Given the description of an element on the screen output the (x, y) to click on. 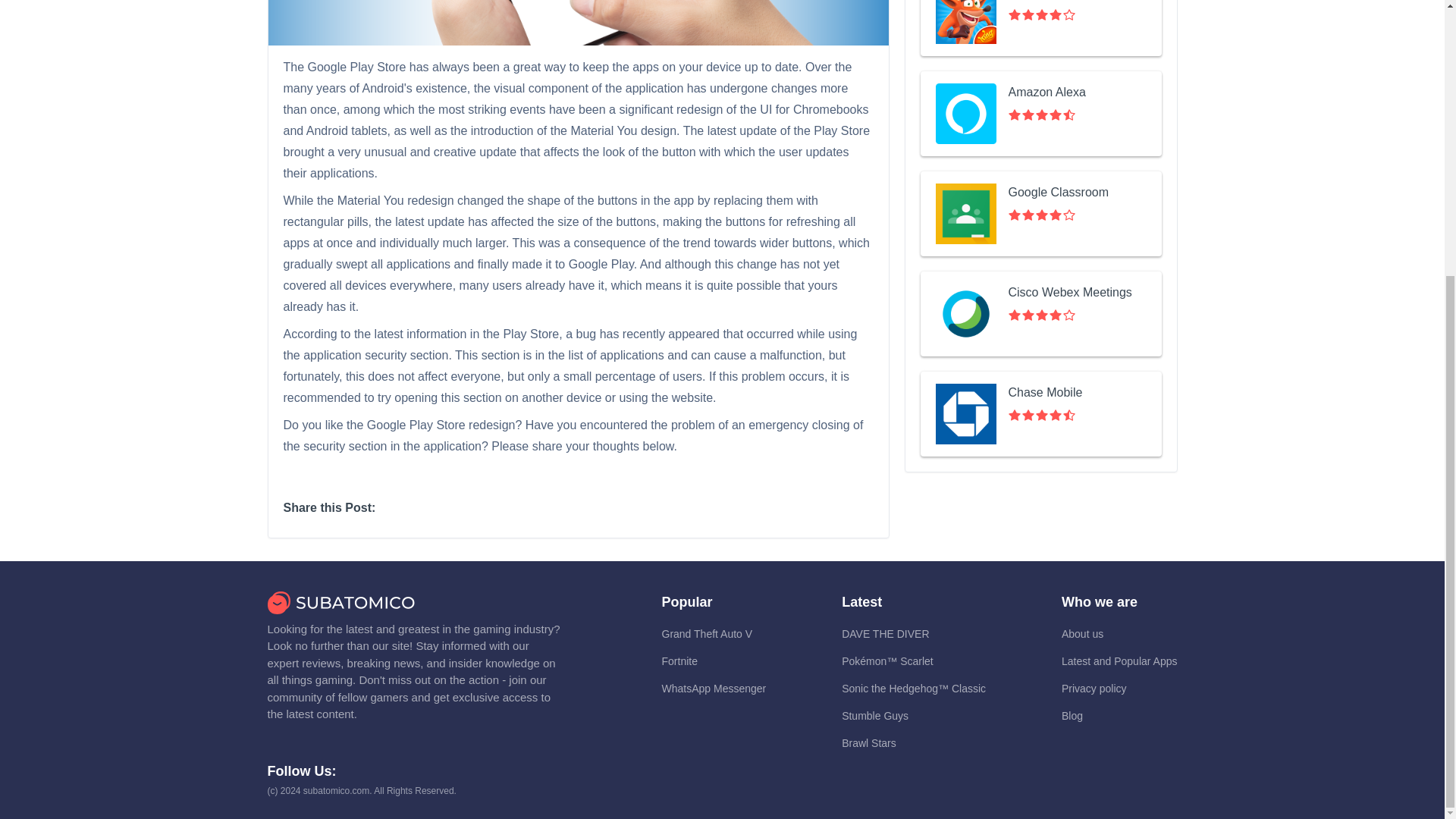
User rating 4.2 (1042, 315)
User rating 4.4 (1042, 415)
Blog (1072, 715)
Crash Bandicoot Mobile (1040, 28)
Cisco Webex Meetings (1040, 313)
User rating 3.9 (1042, 215)
DAVE THE DIVER (884, 633)
Privacy policy (1093, 688)
Amazon Alexa (1040, 113)
About us (1082, 633)
User rating 4 (1042, 15)
subatomico-logo-white (339, 609)
Brawl Stars (868, 743)
WhatsApp Messenger (713, 688)
Google Classroom (1040, 213)
